Given the description of an element on the screen output the (x, y) to click on. 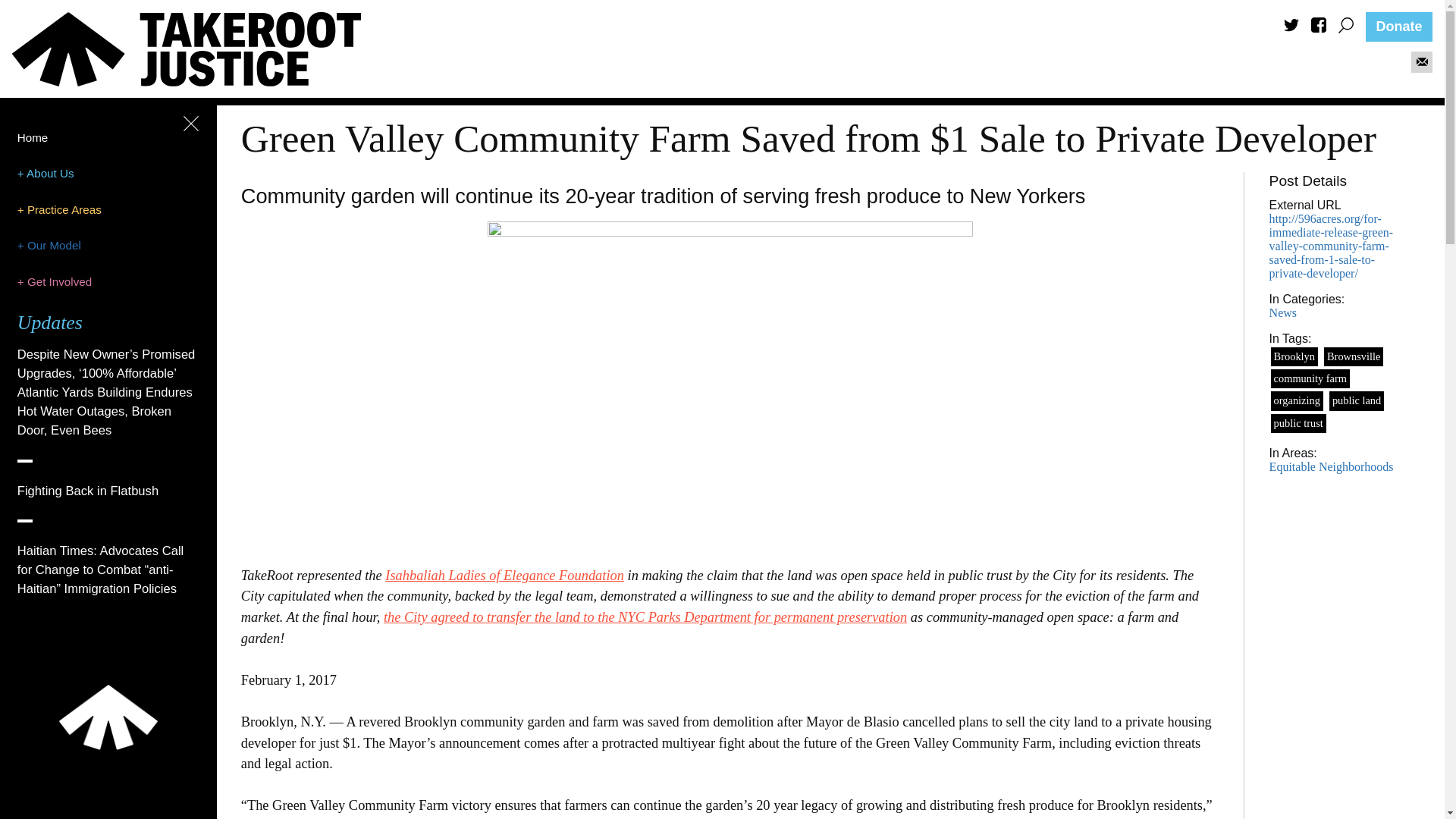
See other items in Brooklyn Tags (1294, 356)
Email Newsletter (1421, 63)
Email Newsletter (1422, 61)
See other items in community farm Tags (1310, 378)
See TakeRoot Justice on Twitter (1291, 27)
Home (32, 137)
Search (1346, 25)
See other items in public trust Tags (1298, 423)
See TakeRoot Justice on Facebook (1318, 29)
See other items in Equitable Neighborhoods Areas (1331, 466)
